Given the description of an element on the screen output the (x, y) to click on. 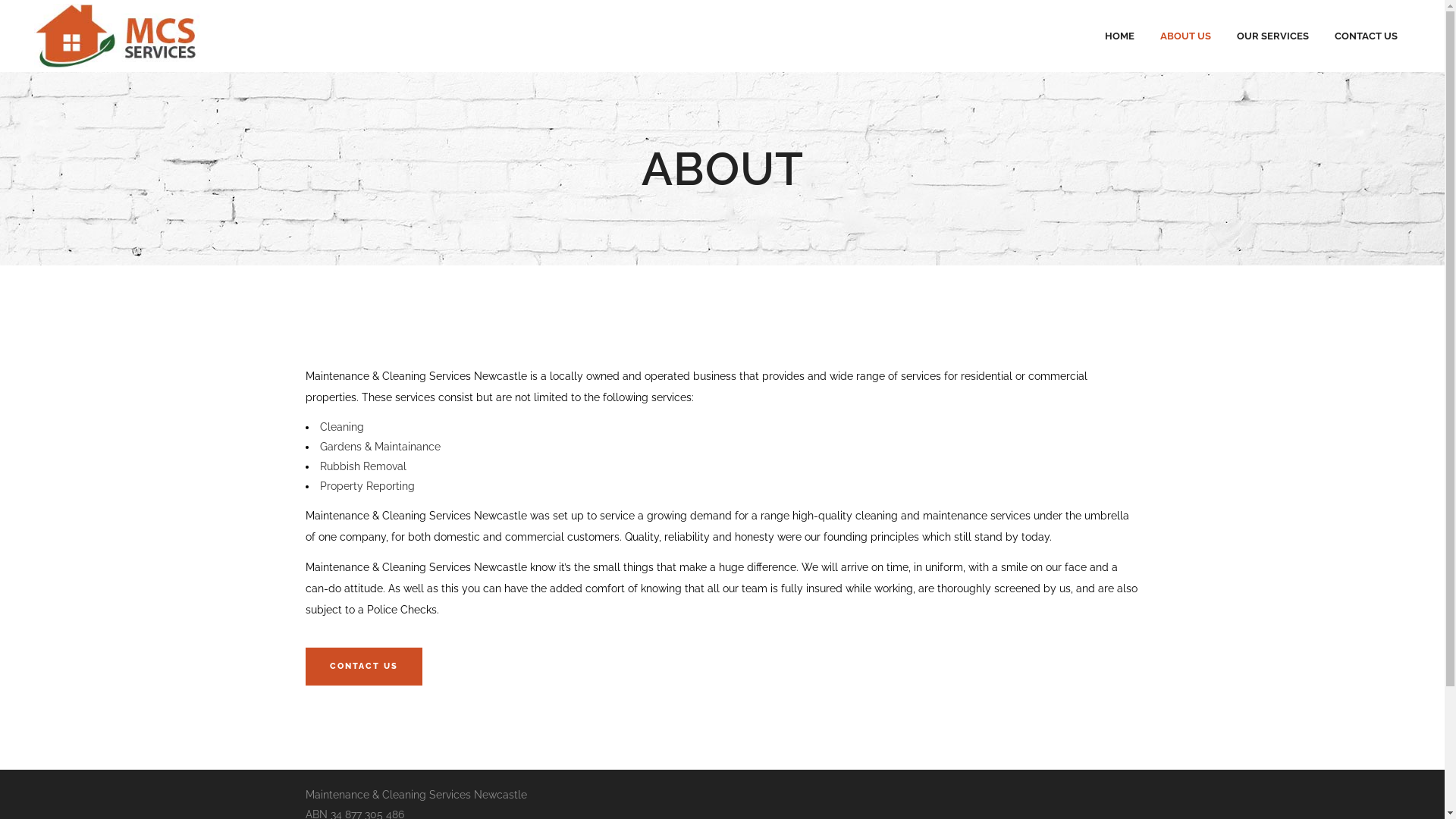
OUR SERVICES Element type: text (1272, 36)
CONTACT US Element type: text (1365, 36)
Cleaning Element type: text (342, 426)
ABOUT US Element type: text (1185, 36)
CONTACT US Element type: text (362, 666)
HOME Element type: text (1119, 36)
Property Reporting Element type: text (367, 486)
Gardens & Maintainance Element type: text (380, 446)
Rubbish Removal Element type: text (363, 466)
